Given the description of an element on the screen output the (x, y) to click on. 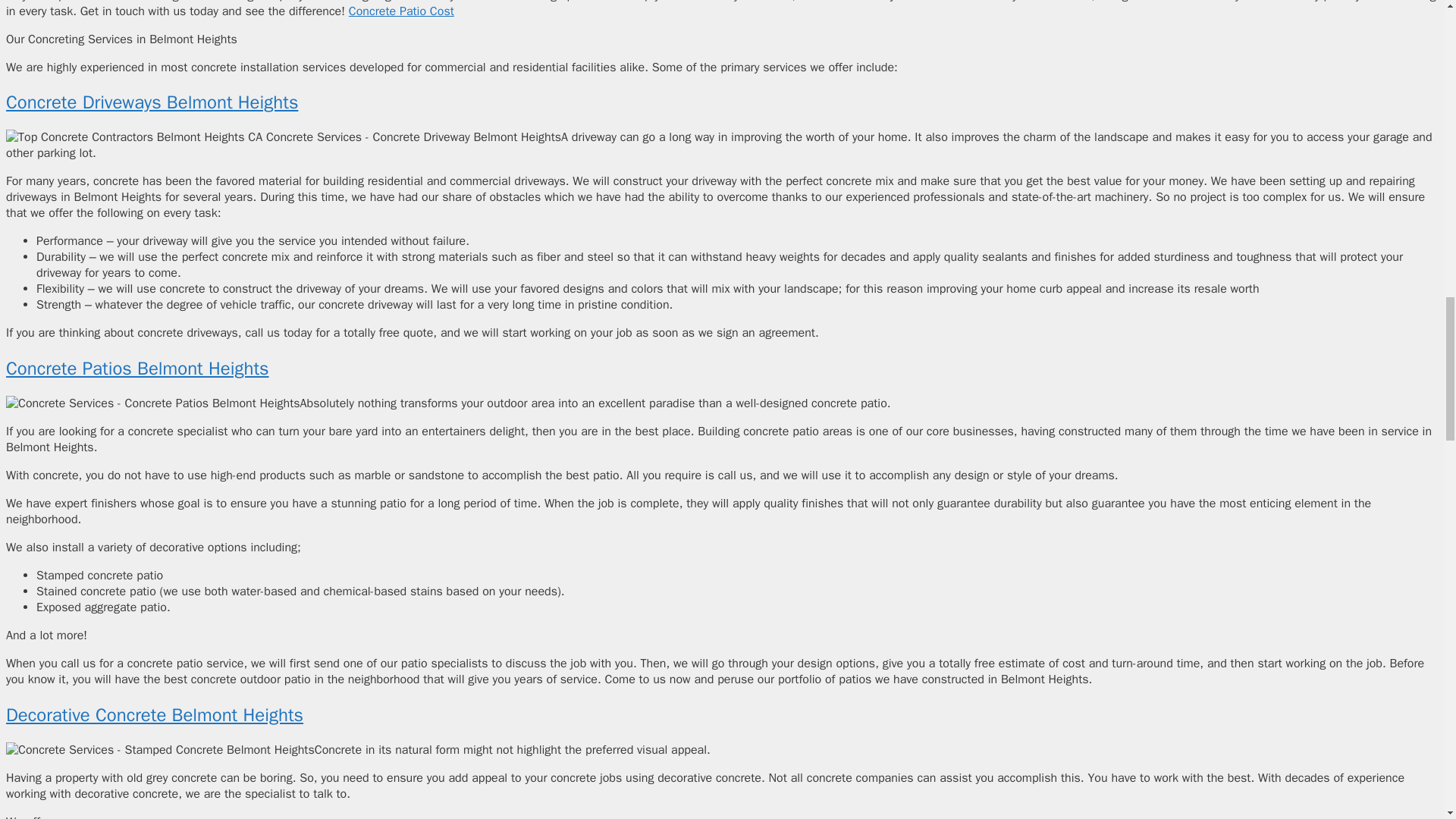
Concrete Patios Belmont Heights (137, 368)
Concrete Patio Cost (401, 11)
Decorative Concrete Belmont Heights (153, 714)
Concrete Driveways Belmont Heights (151, 101)
